Given the description of an element on the screen output the (x, y) to click on. 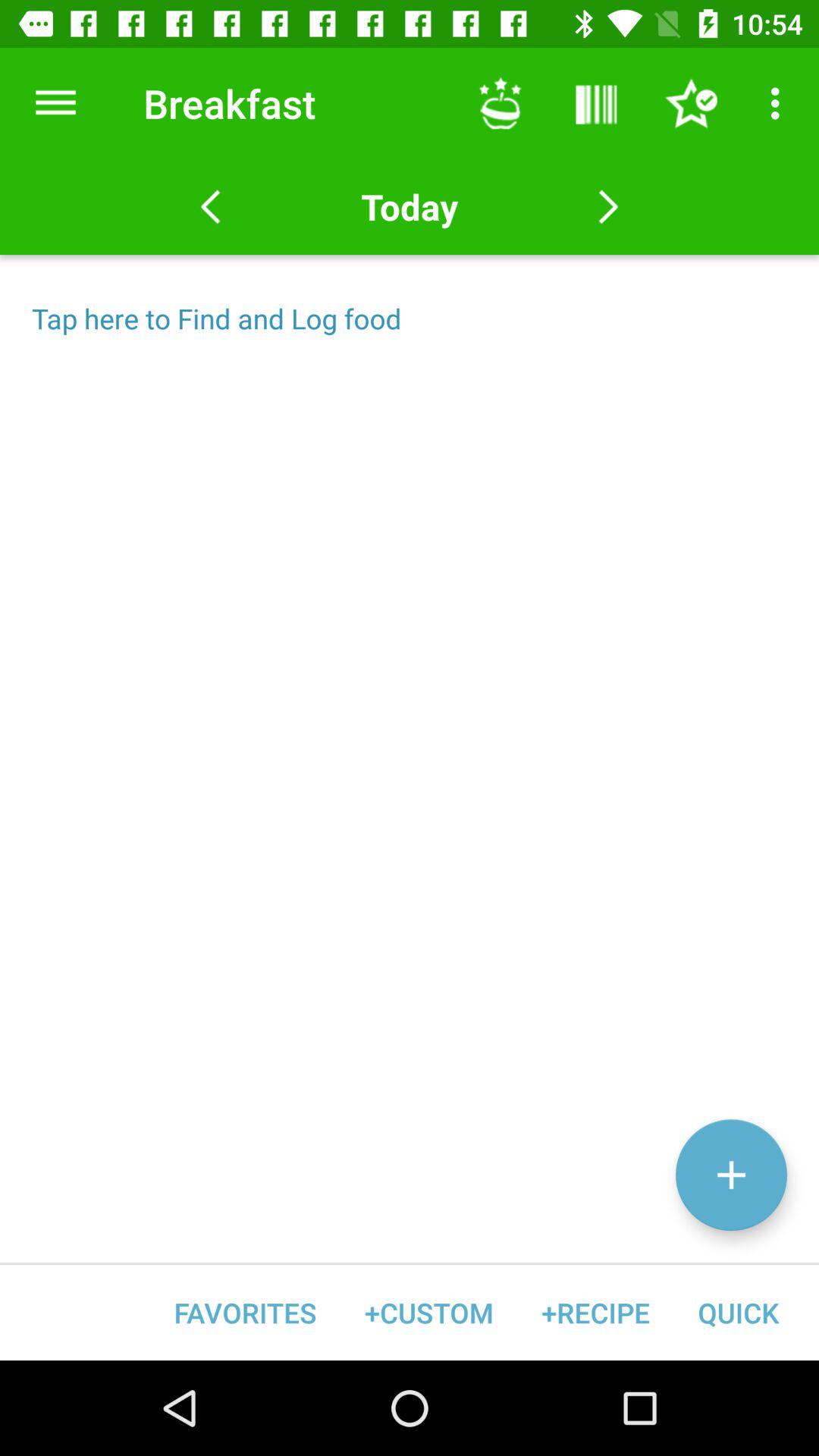
select the +recipe (595, 1312)
